Given the description of an element on the screen output the (x, y) to click on. 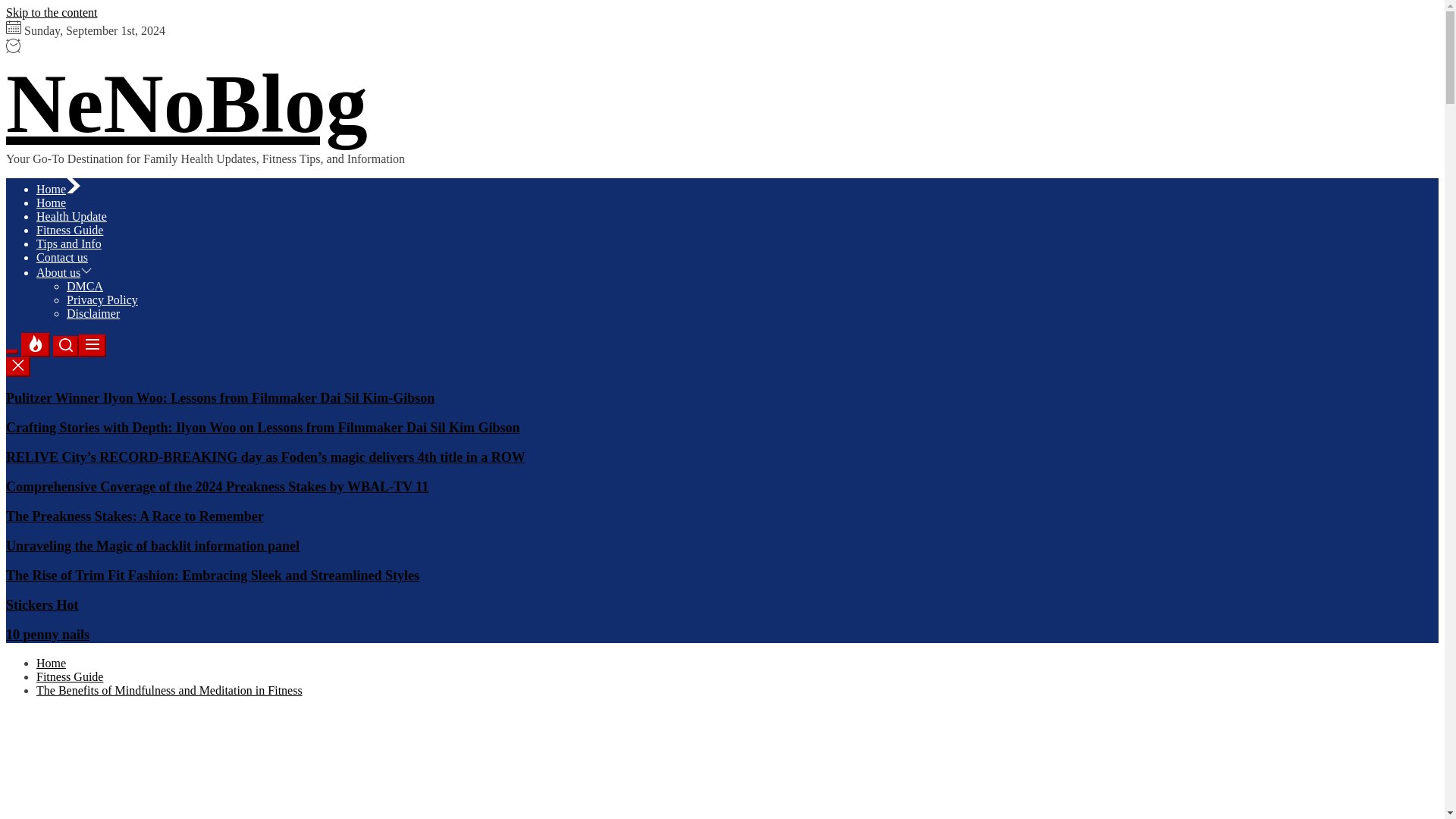
NeNoBlog (186, 103)
Contact us (61, 256)
Tips and Info (68, 243)
10 penny nails (46, 634)
10 penny nails (46, 634)
The Preakness Stakes: A Race to Remember (134, 516)
